Given the description of an element on the screen output the (x, y) to click on. 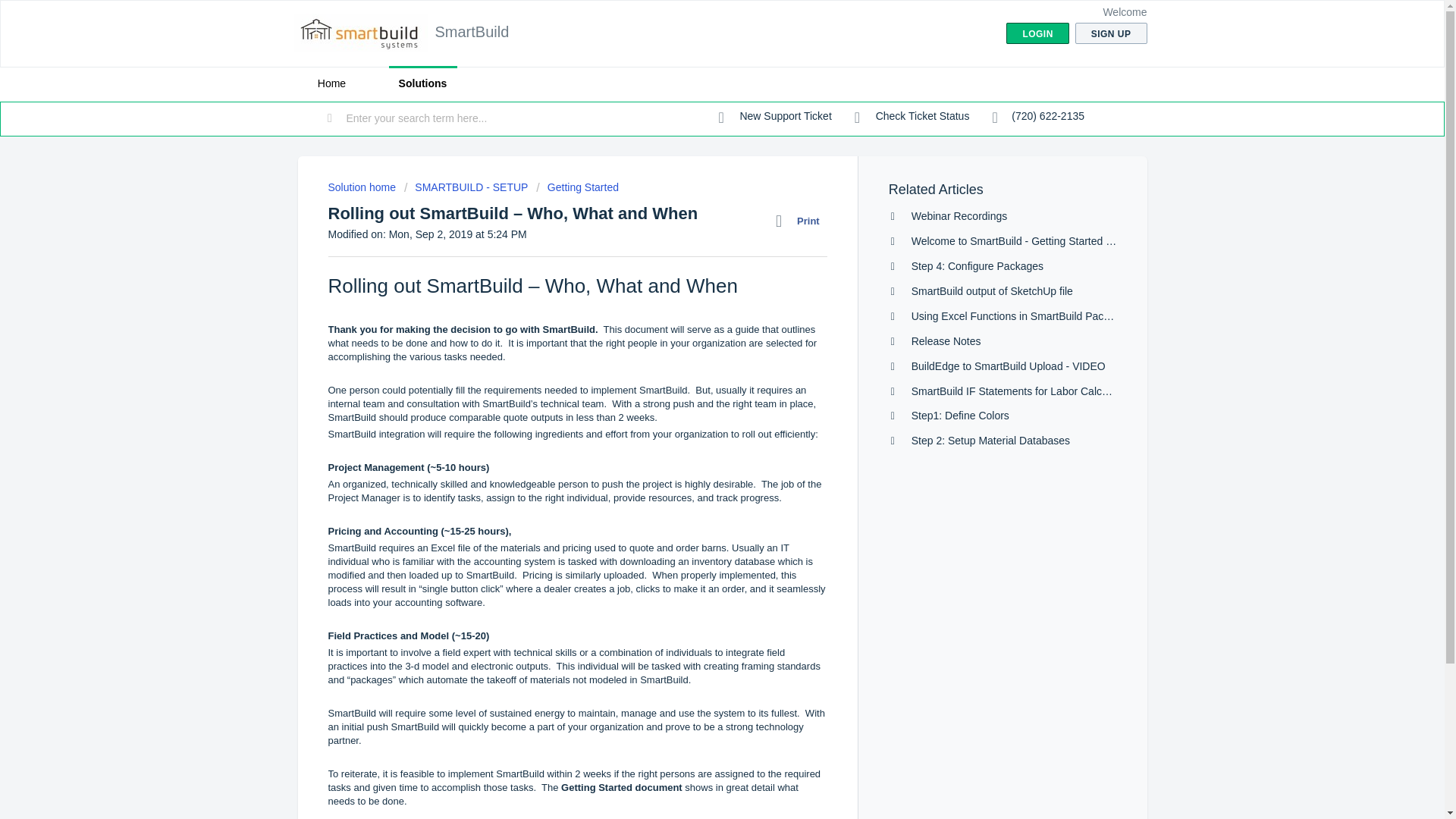
Welcome to SmartBuild - Getting Started Document! (1034, 241)
SmartBuild IF Statements for Labor Calcs - VIDEO (1030, 390)
SmartBuild output of SketchUp file (992, 291)
Webinar Recordings (959, 215)
New Support Ticket (775, 116)
Step1: Define Colors (960, 415)
Getting Started (576, 186)
Check Ticket Status (911, 116)
Using Excel Functions in SmartBuild Package Calculations-2 (1053, 316)
Step 2: Setup Material Databases (990, 440)
